Given the description of an element on the screen output the (x, y) to click on. 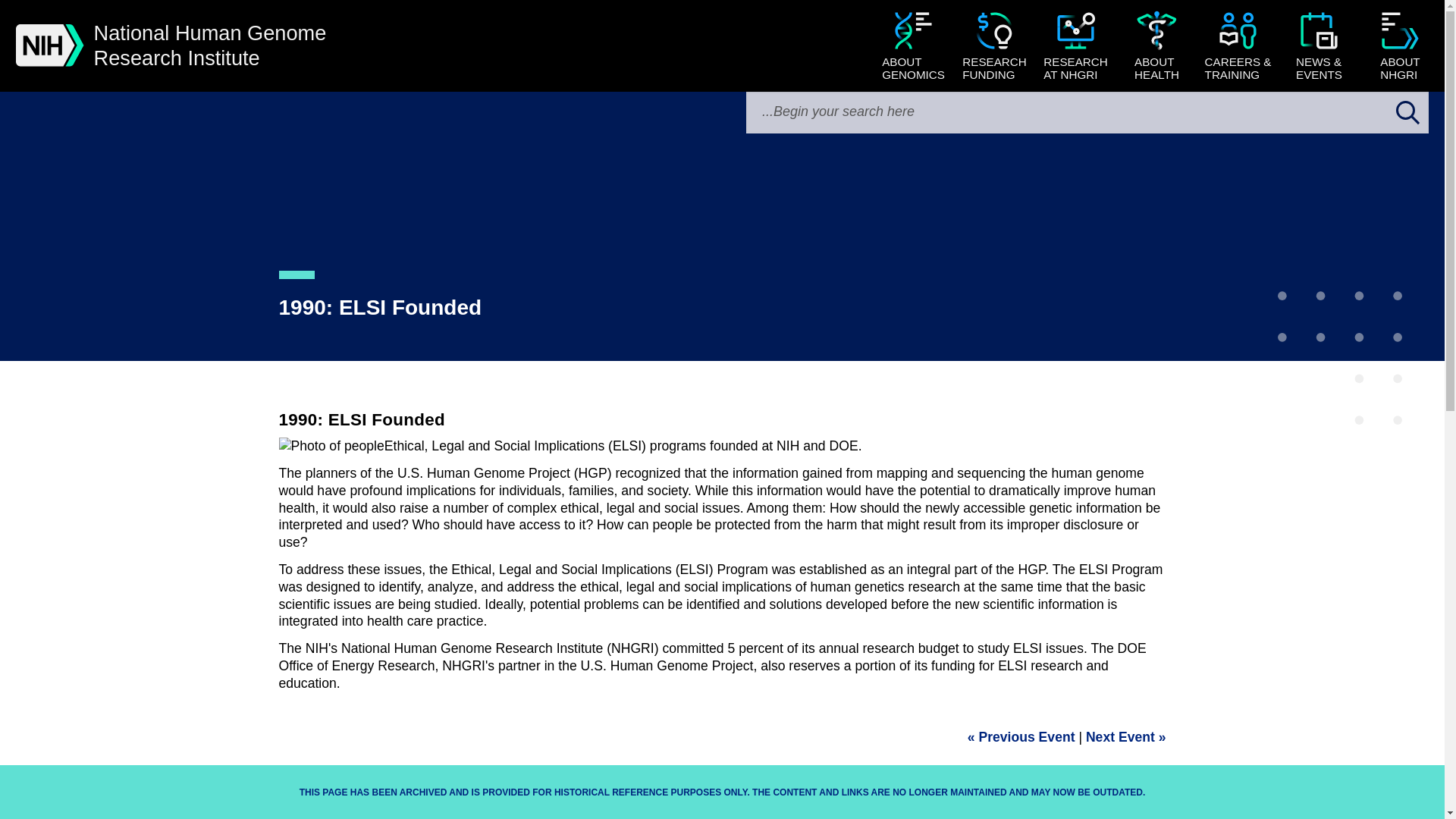
enter the terms you wish to search for (1156, 47)
Next Event (1086, 112)
Previous Event (210, 46)
